Given the description of an element on the screen output the (x, y) to click on. 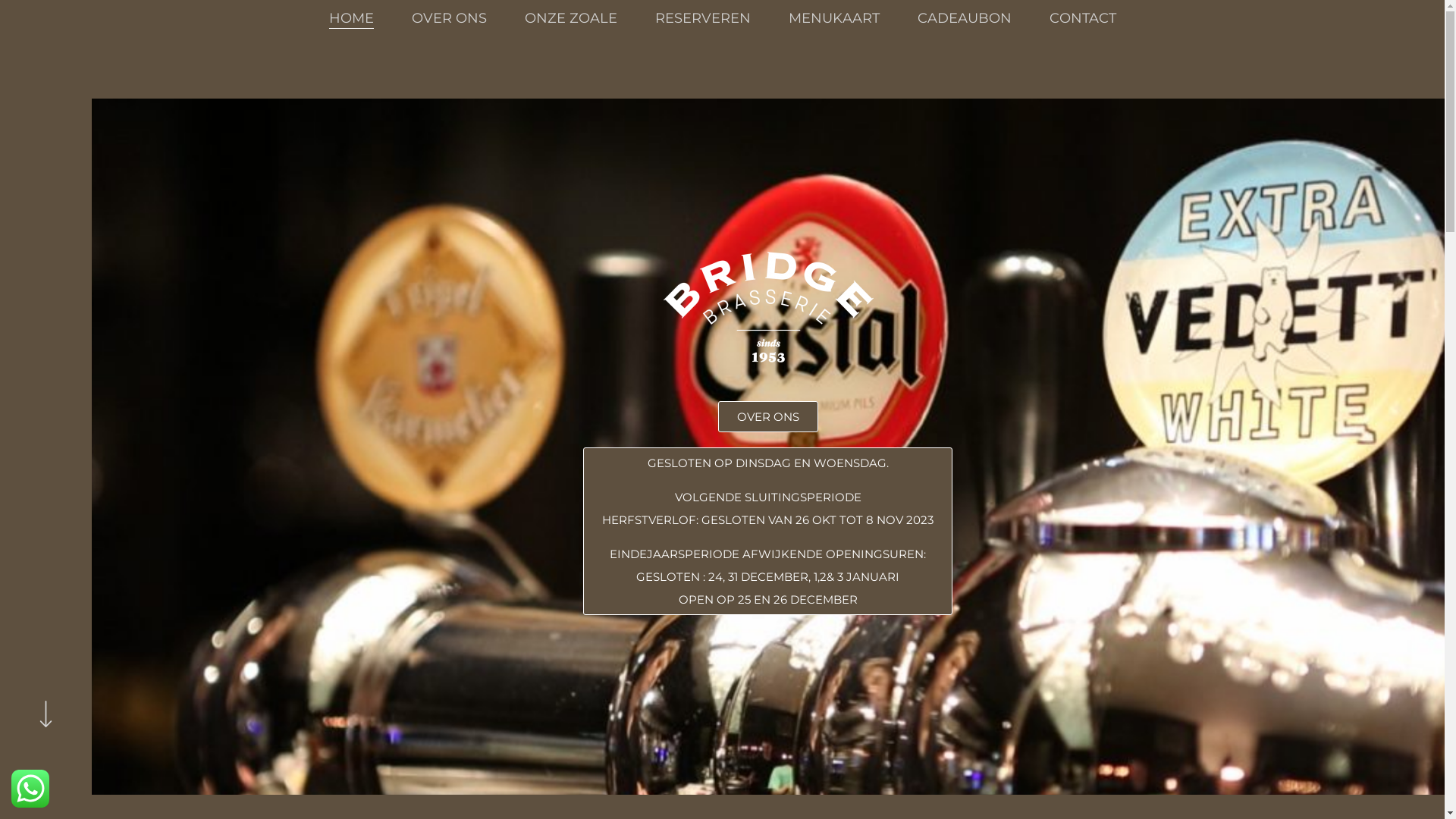
OVER ONS Element type: text (768, 416)
HOME Element type: text (351, 17)
CADEAUBON Element type: text (964, 17)
CONTACT Element type: text (1082, 17)
MENUKAART Element type: text (833, 17)
ONZE ZOALE Element type: text (570, 17)
RESERVEREN Element type: text (702, 17)
OVER ONS Element type: text (448, 17)
